Given the description of an element on the screen output the (x, y) to click on. 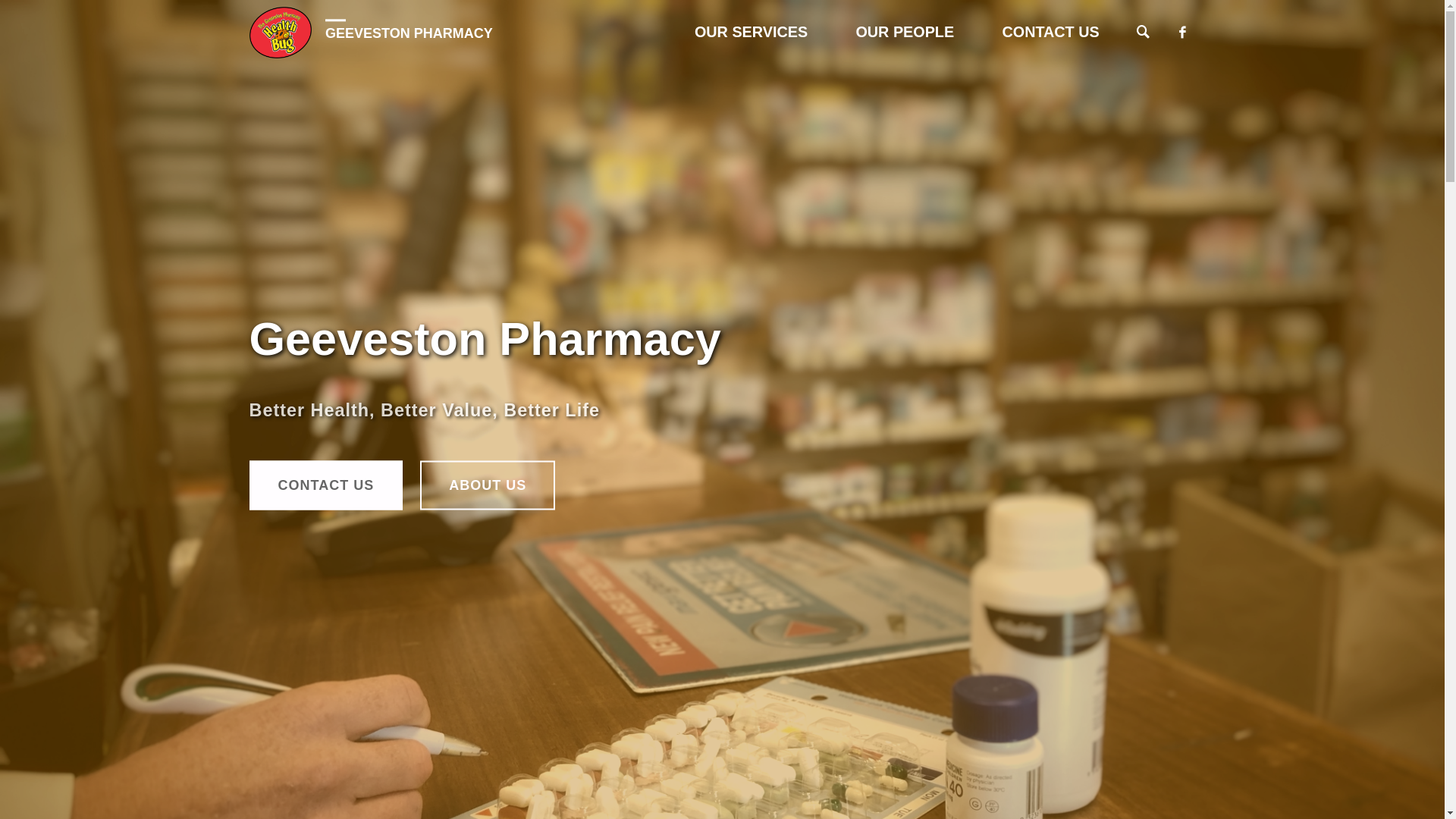
GEEVESTON PHARMACY Element type: text (408, 31)
CONTACT US Element type: text (325, 484)
CONTACT US Element type: text (1050, 32)
ABOUT US Element type: text (487, 484)
OUR PEOPLE Element type: text (904, 32)
Facebook Element type: hover (1182, 32)
SEARCH Element type: text (1143, 32)
Geeveston Pharmacy Element type: hover (279, 31)
OUR SERVICES Element type: text (750, 32)
